Given the description of an element on the screen output the (x, y) to click on. 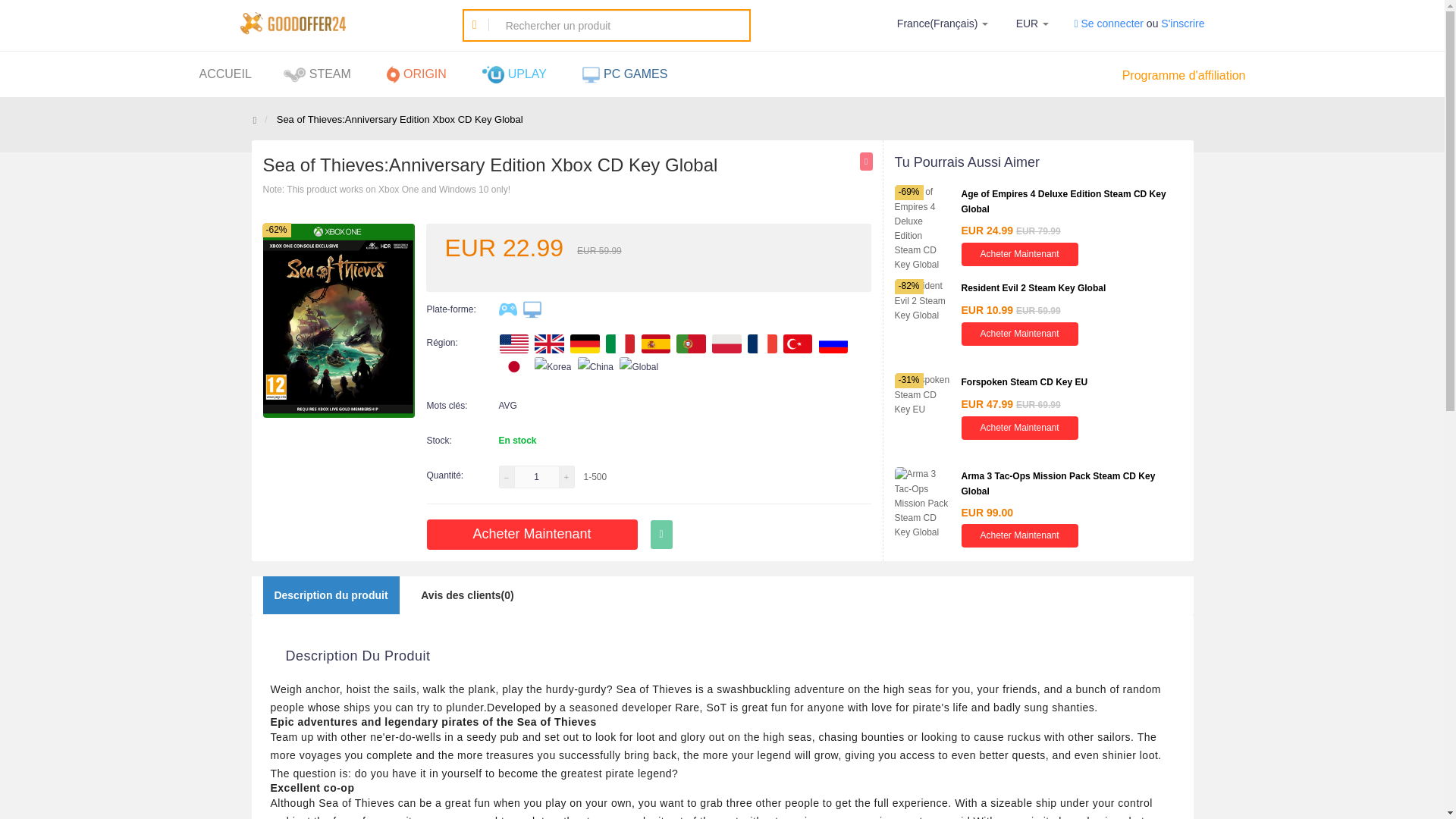
Portugal (690, 343)
XBOX (507, 309)
PC (531, 309)
Global (639, 366)
Spain (655, 343)
ACCUEIL (224, 74)
UPLAY (515, 74)
PC GAMES (626, 74)
1 (536, 477)
Arma 3 Tac-Ops Mission Pack Steam CD Key Global (1058, 483)
Programme d'affiliation (1184, 74)
Japan (513, 366)
United States (513, 343)
Korea (552, 366)
China (595, 366)
